Given the description of an element on the screen output the (x, y) to click on. 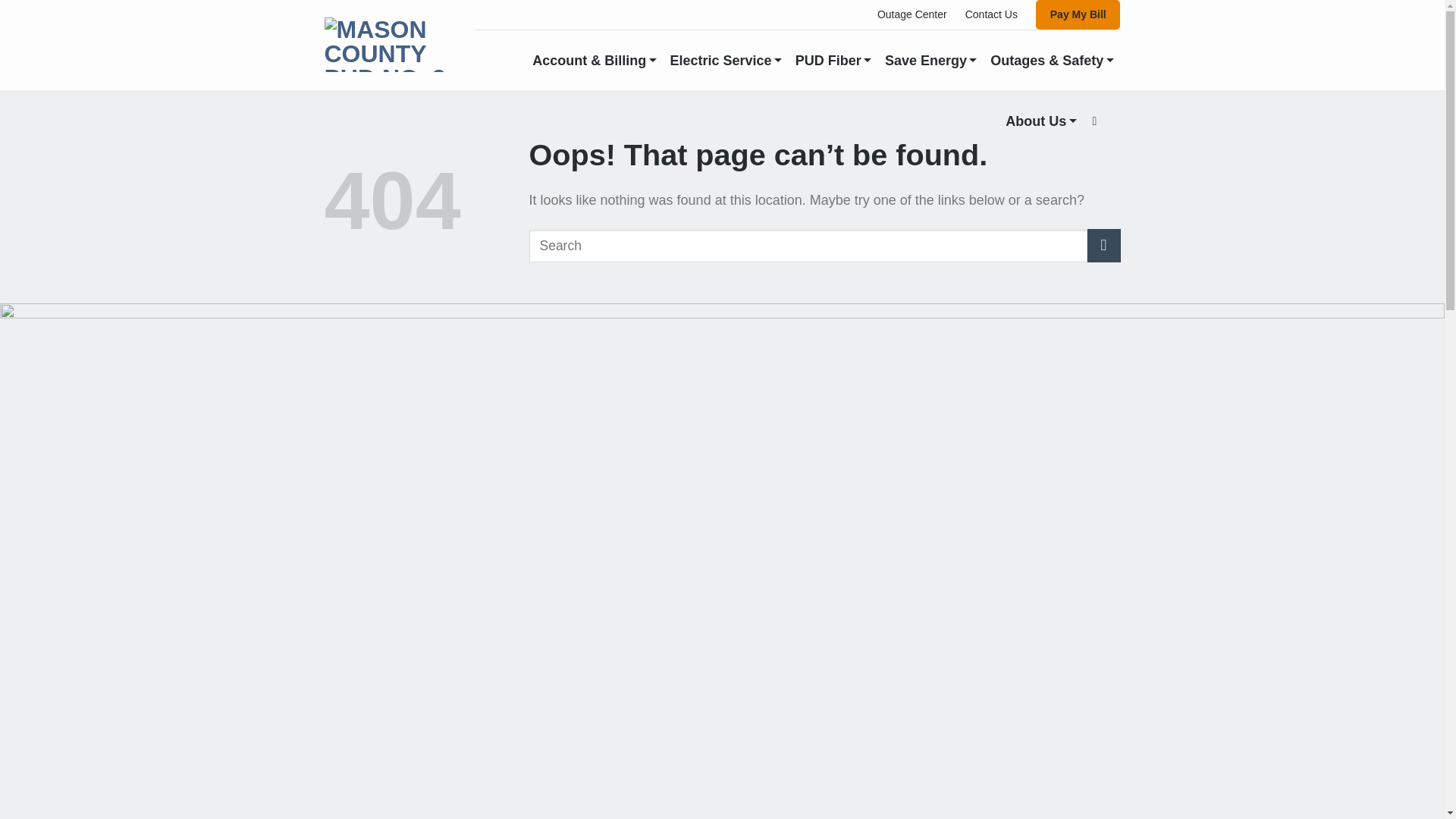
Contact Us (991, 14)
PUD Fiber (832, 60)
Mason County PUD No. 3 (387, 44)
Electric Service (725, 60)
Pay My Bill (1078, 14)
Outage Center (912, 14)
Save Energy (930, 60)
About Us (1040, 120)
